Given the description of an element on the screen output the (x, y) to click on. 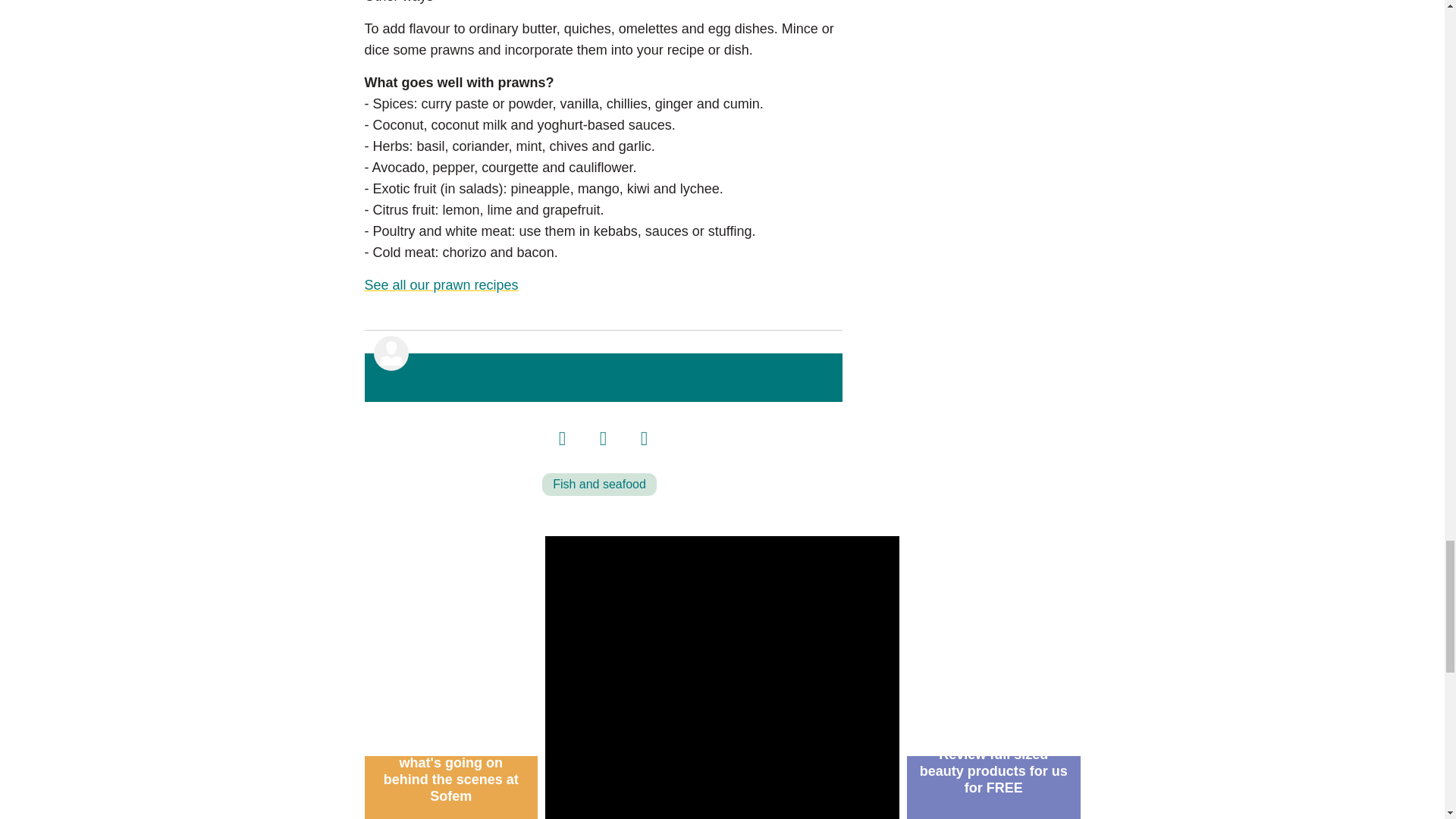
Fish and seafood (598, 484)
Fish and seafood (598, 484)
See all our prawn recipes (441, 284)
